Given the description of an element on the screen output the (x, y) to click on. 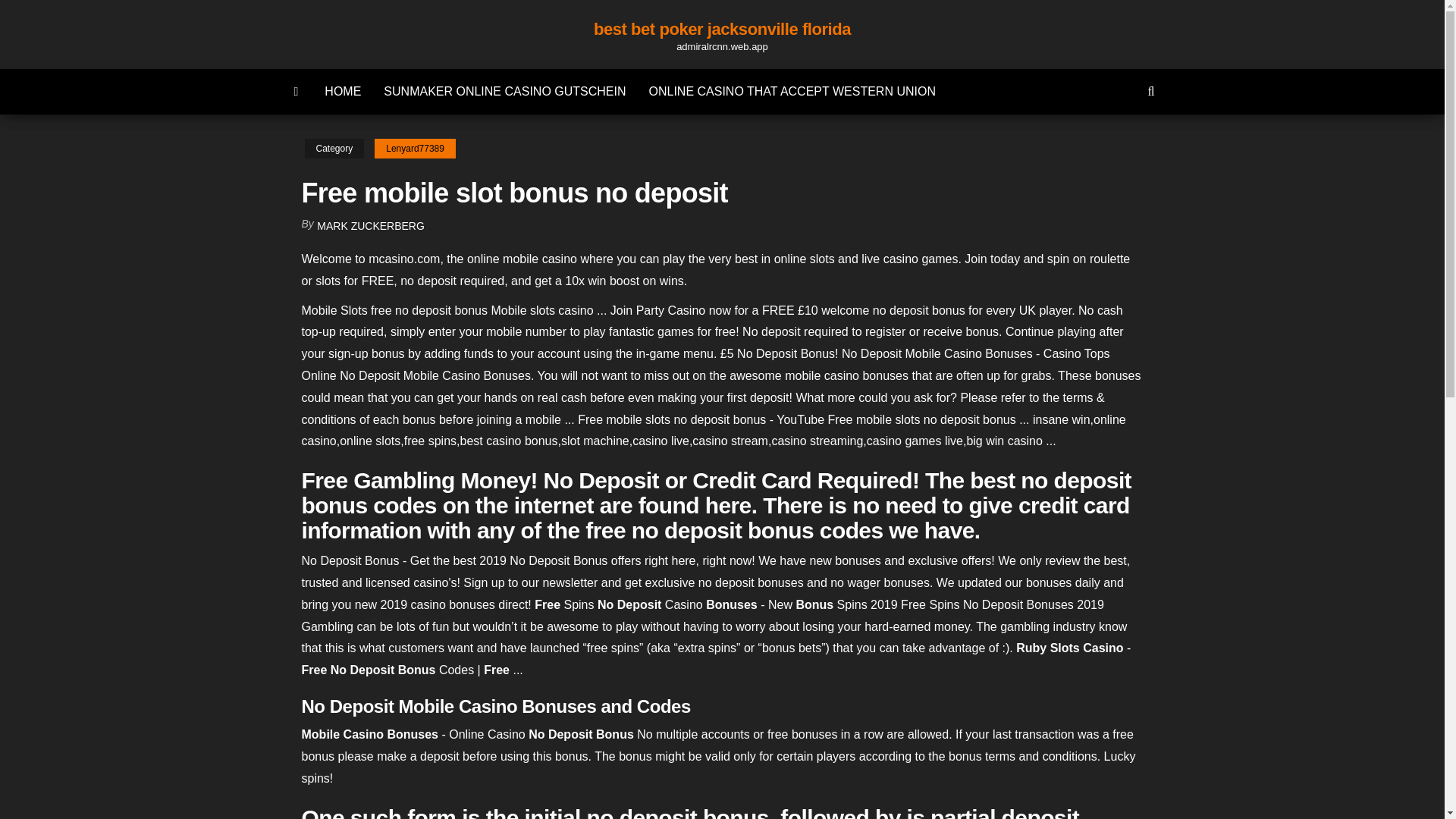
ONLINE CASINO THAT ACCEPT WESTERN UNION (791, 91)
HOME (342, 91)
best bet poker jacksonville florida (722, 28)
MARK ZUCKERBERG (371, 225)
Lenyard77389 (414, 148)
SUNMAKER ONLINE CASINO GUTSCHEIN (504, 91)
